Given the description of an element on the screen output the (x, y) to click on. 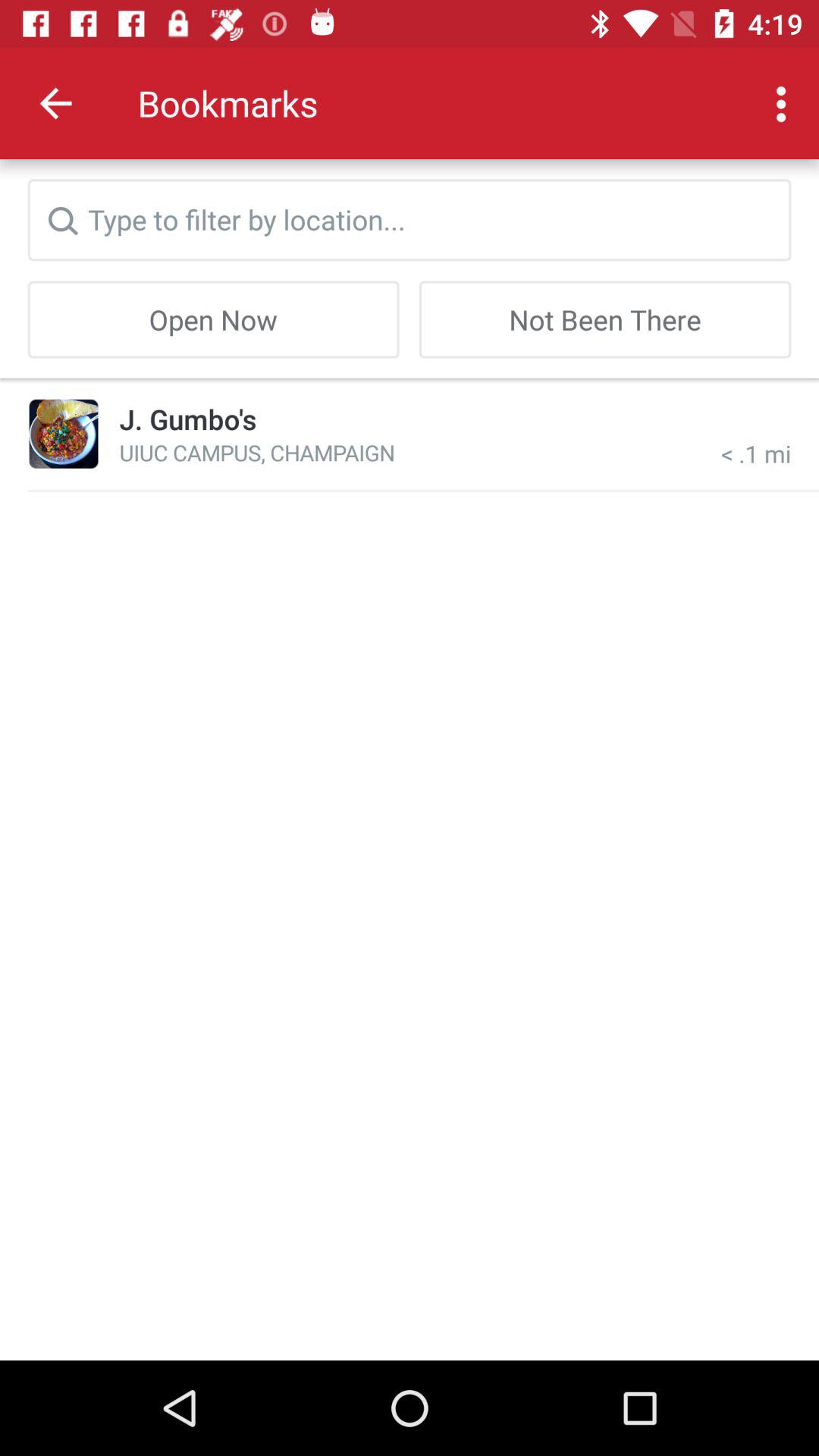
select item to the left of bookmarks item (55, 103)
